Given the description of an element on the screen output the (x, y) to click on. 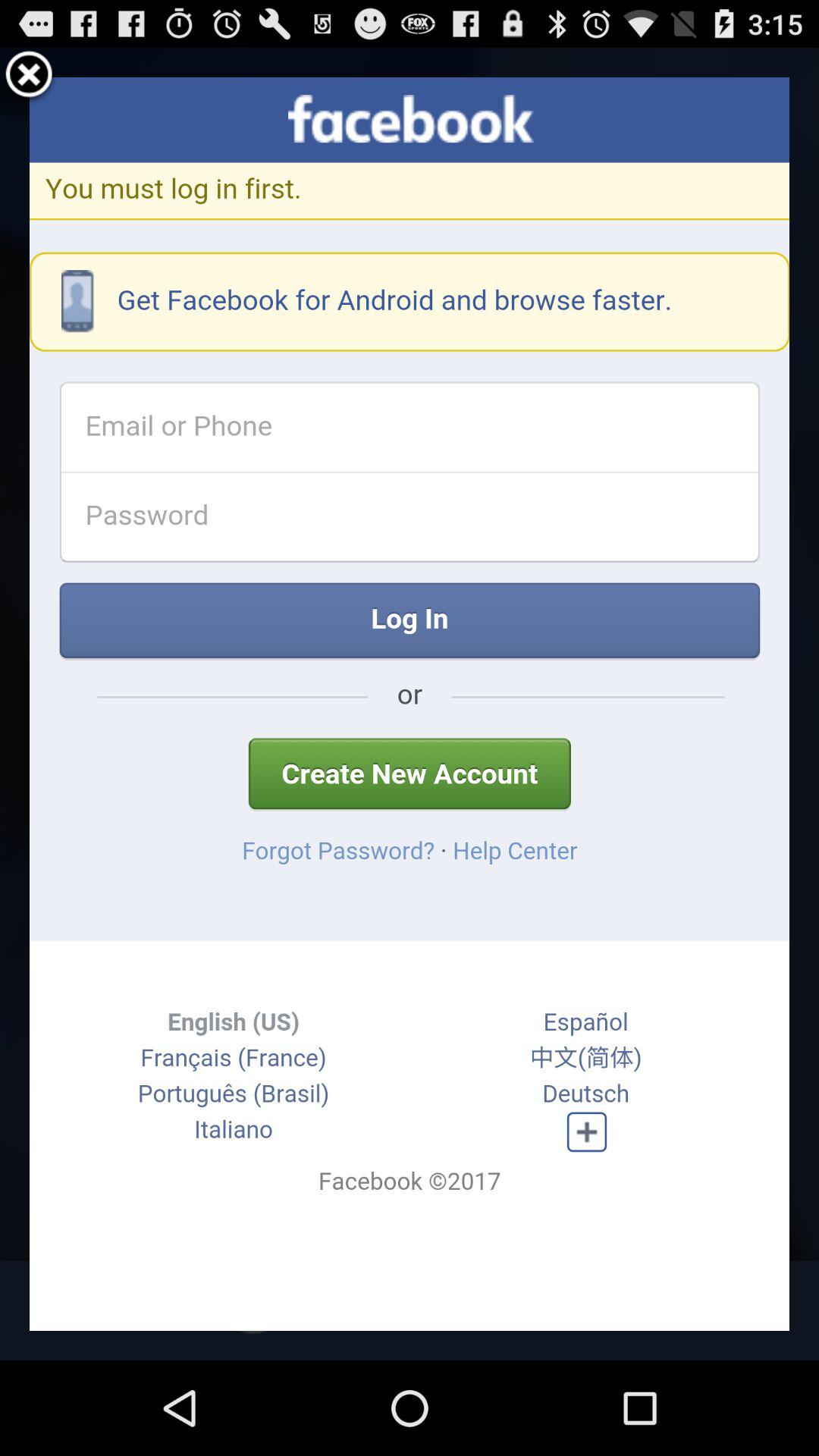
description (409, 703)
